Given the description of an element on the screen output the (x, y) to click on. 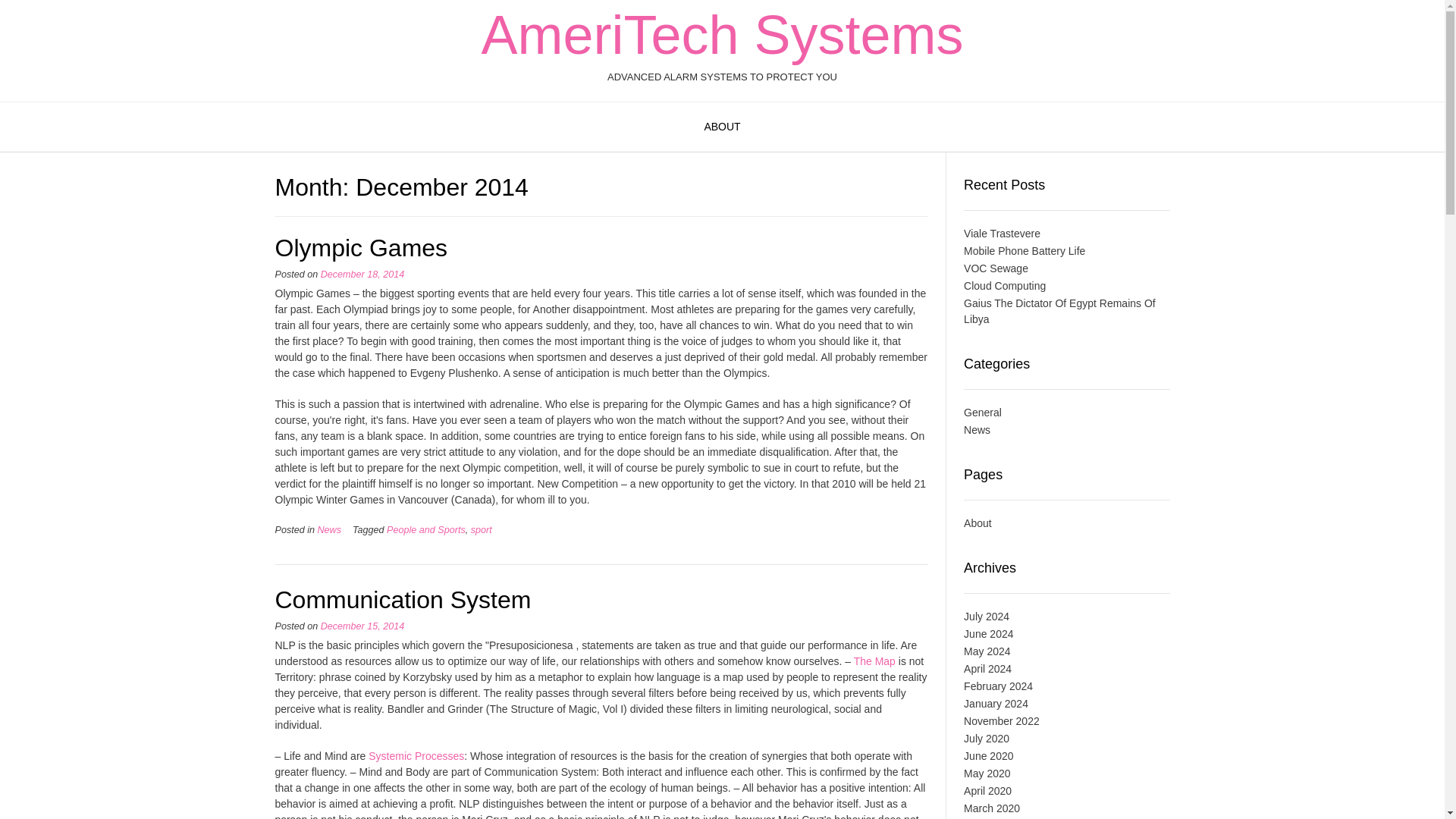
June 2024 (988, 633)
November 2022 (1001, 720)
About (1066, 523)
ABOUT (721, 127)
Gaius The Dictator Of Egypt Remains Of Libya (1059, 311)
News (329, 529)
People and Sports (426, 529)
The Map (874, 661)
Mobile Phone Battery Life (1023, 250)
April 2024 (987, 668)
Communication System (403, 599)
General (982, 412)
Viale Trastevere (1002, 233)
July 2020 (986, 738)
December 15, 2014 (362, 625)
